Given the description of an element on the screen output the (x, y) to click on. 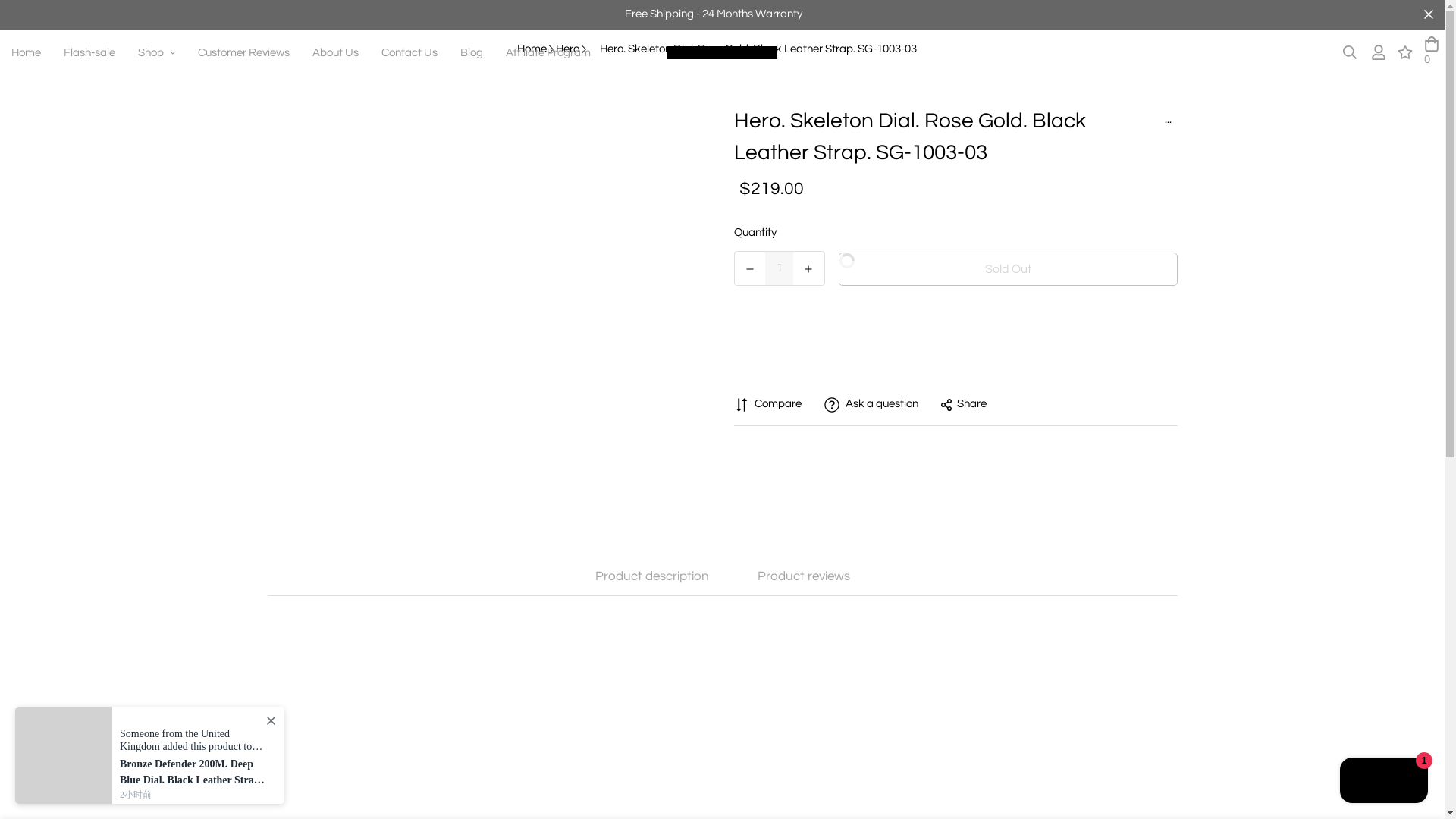
Blog (471, 52)
Back to the home page (531, 49)
Flash-sale (89, 52)
Shop (156, 52)
Contact Us (408, 52)
Affiliate Program (548, 52)
Customer Reviews (243, 52)
About Us (335, 52)
Home (26, 52)
Shopify online store chat (1383, 781)
